Given the description of an element on the screen output the (x, y) to click on. 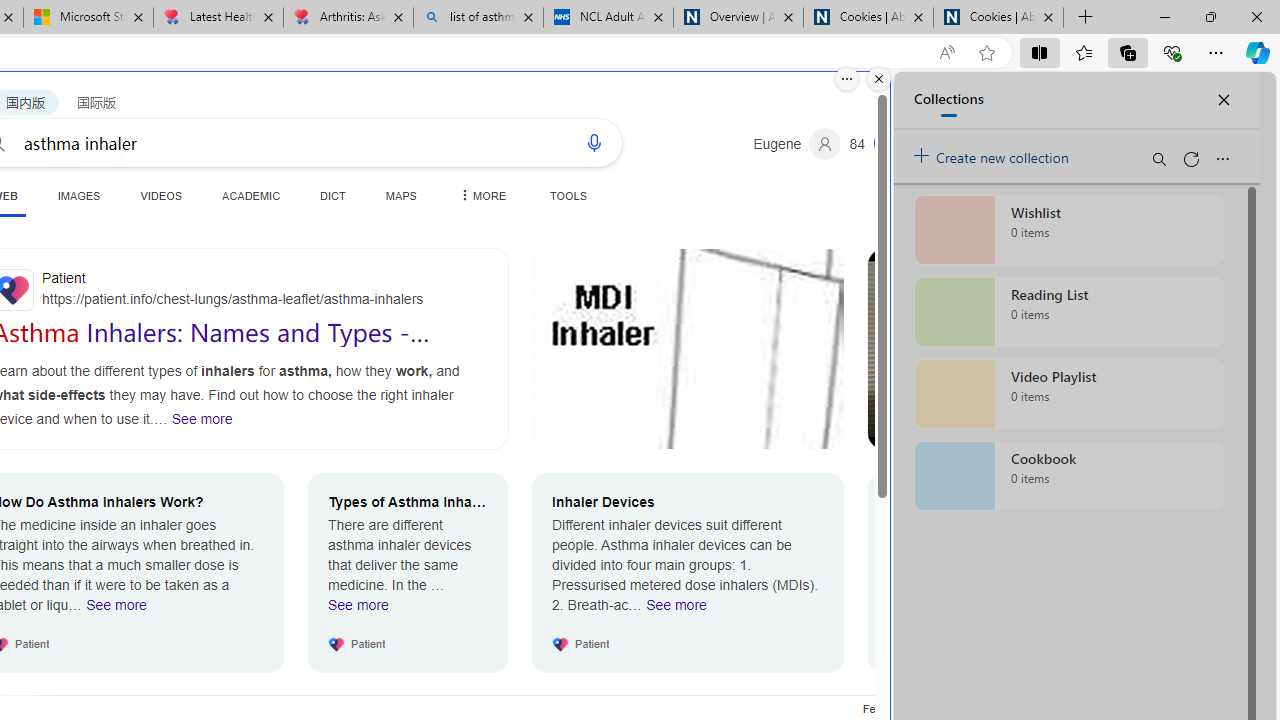
TOOLS (568, 195)
TOOLS (568, 195)
DICT (333, 195)
ACADEMIC (251, 195)
